Given the description of an element on the screen output the (x, y) to click on. 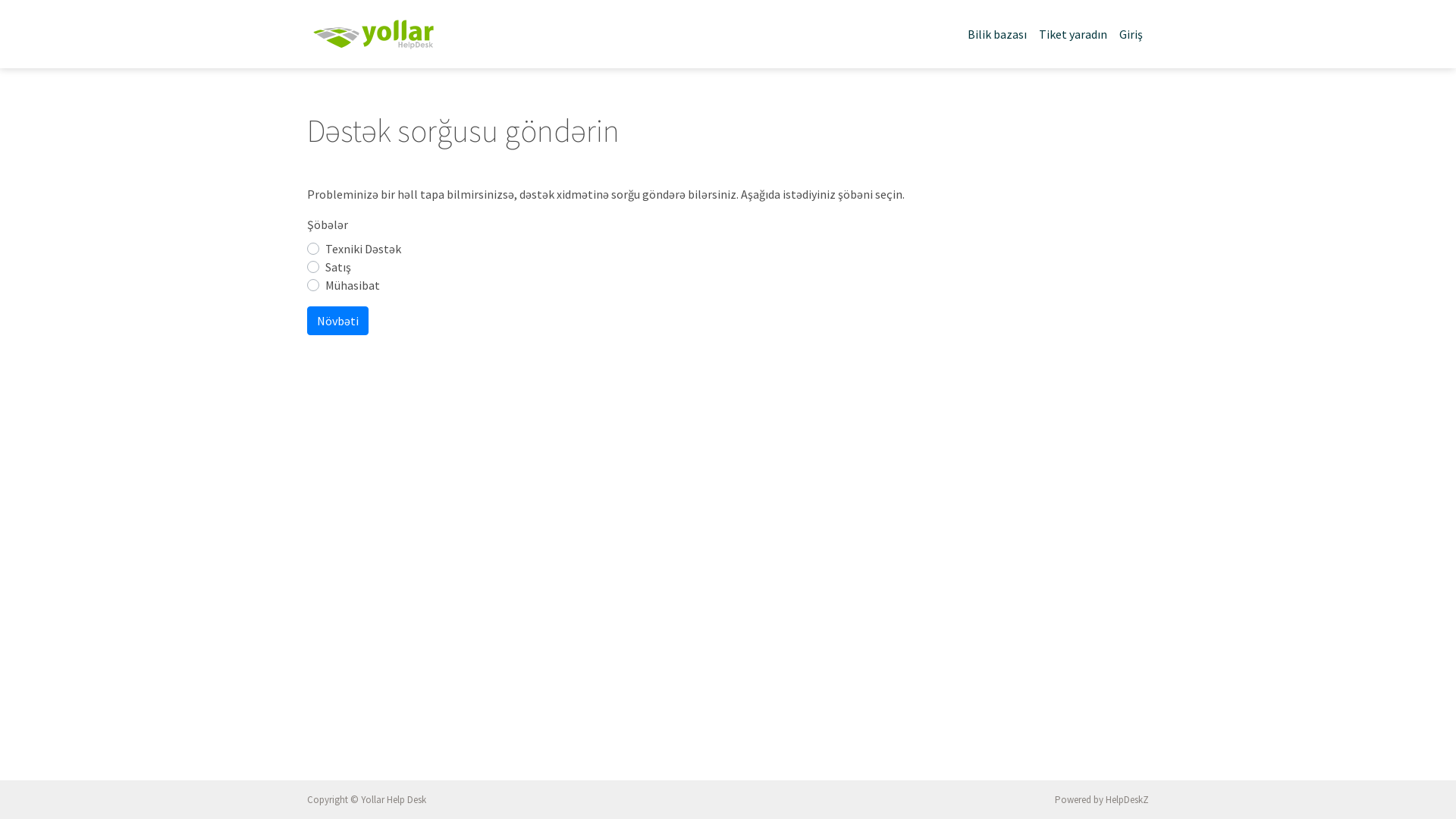
HelpDeskZ Element type: text (1126, 799)
